Given the description of an element on the screen output the (x, y) to click on. 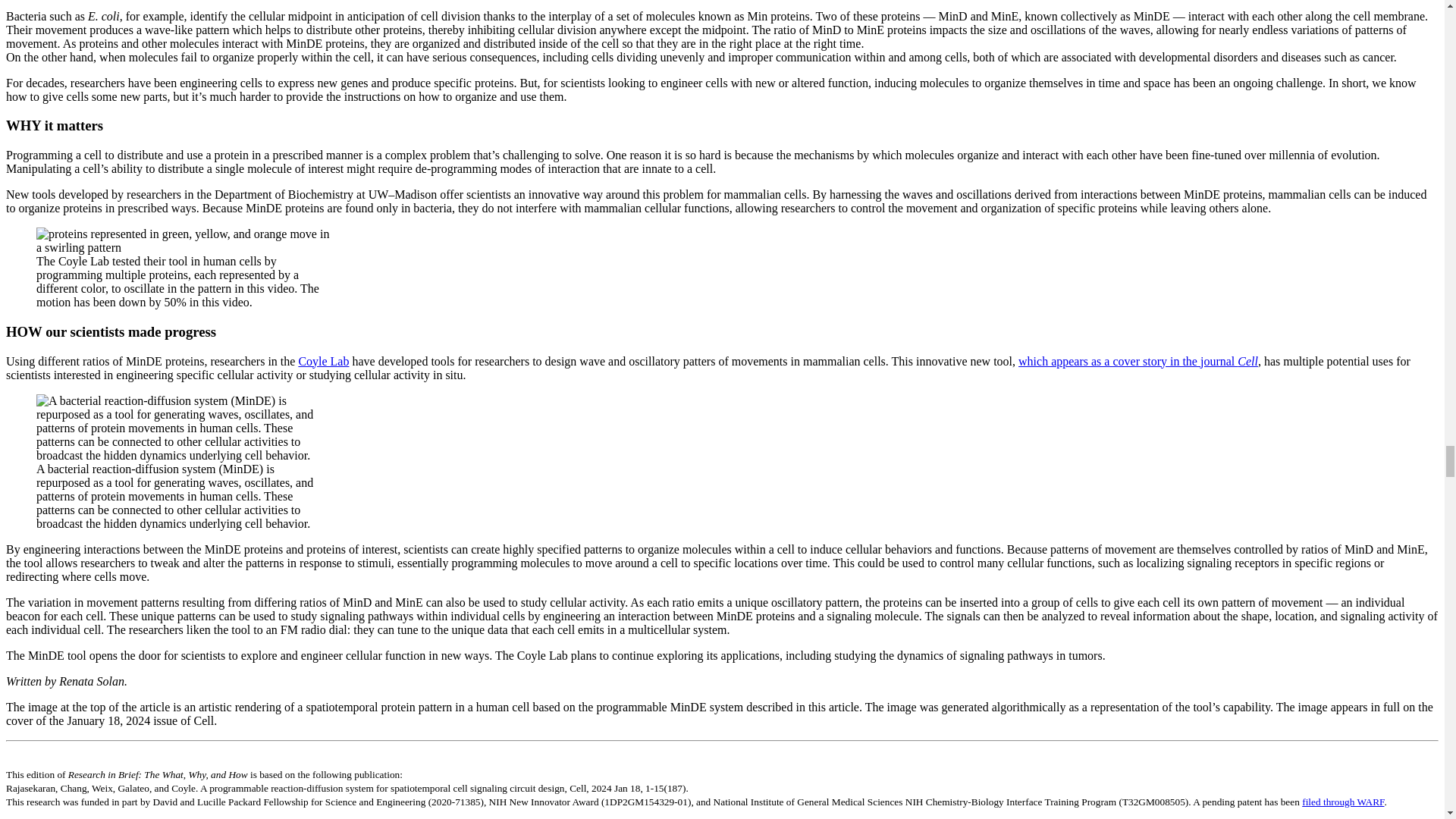
filed through WARF (1342, 801)
which appears as a cover story in the journal Cell (1137, 360)
Coyle Lab (323, 360)
